Given the description of an element on the screen output the (x, y) to click on. 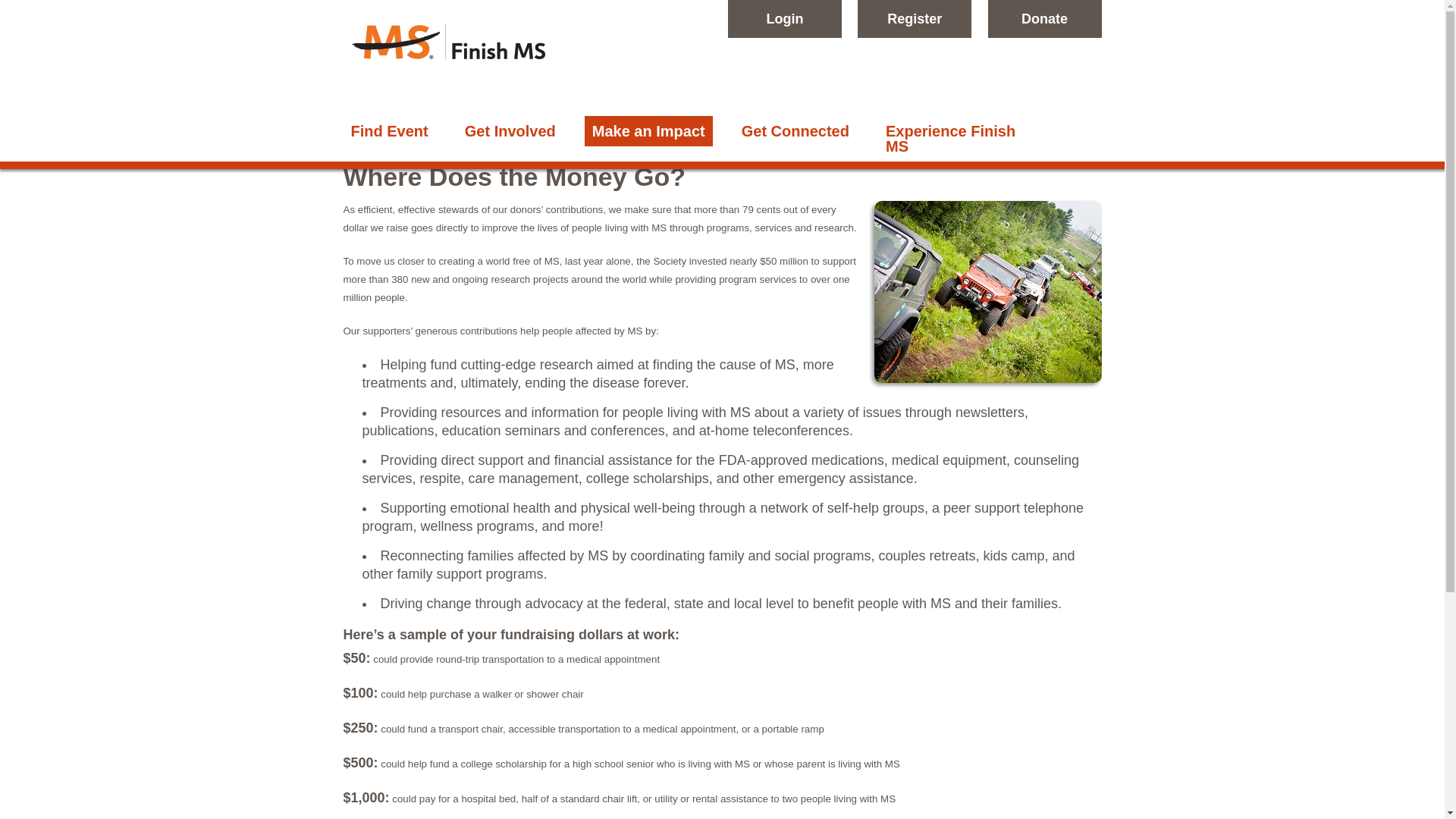
Find Event (388, 131)
Make an Impact (649, 131)
Find an Event (388, 131)
Get Involved (510, 131)
Donate (1043, 18)
Experience Finish MS (961, 138)
click to enter search to find event (914, 18)
click to open up login fields (784, 18)
Register (914, 18)
Finish MS Landing Page (447, 78)
